Given the description of an element on the screen output the (x, y) to click on. 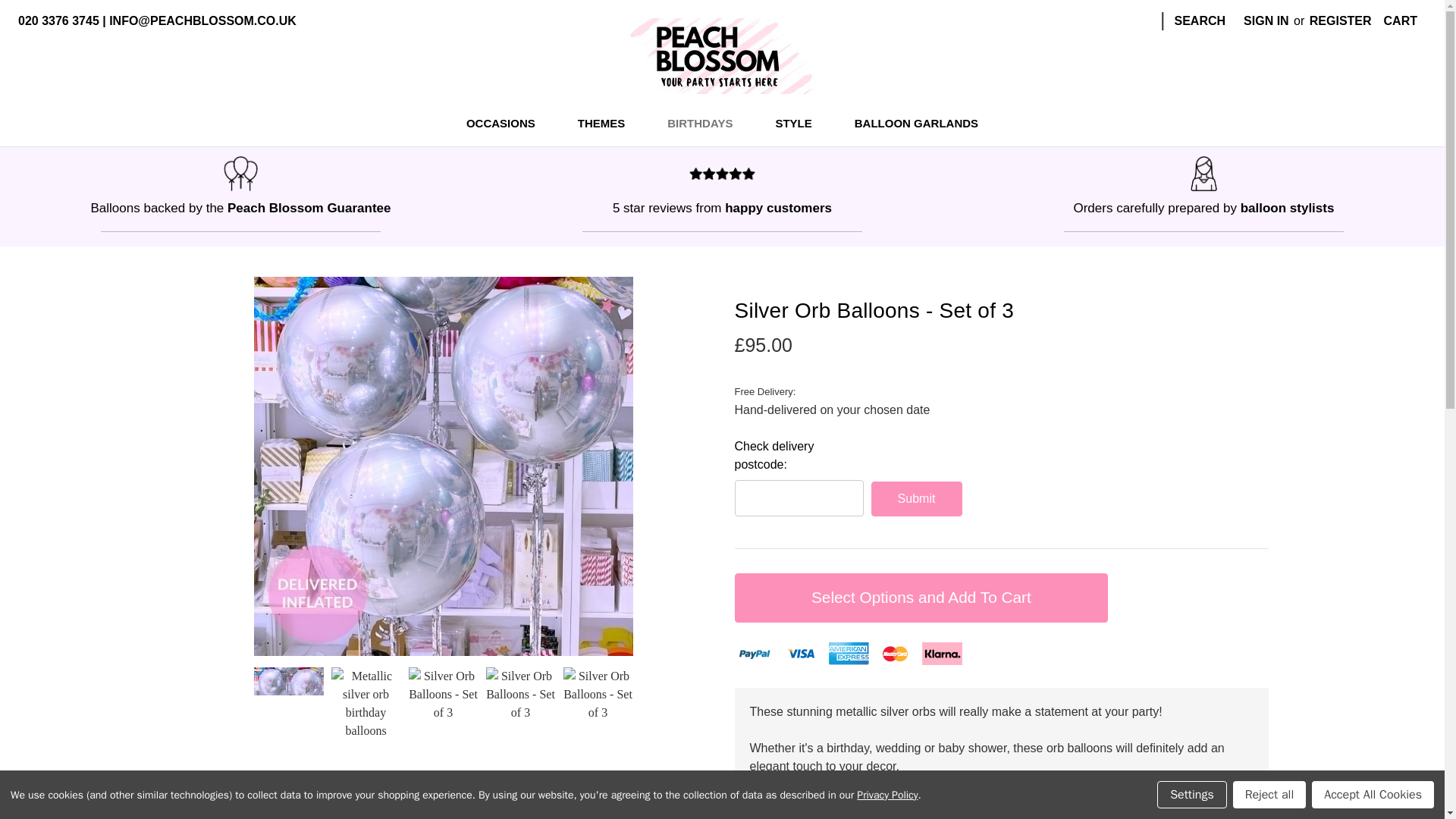
Silver Orb Balloons - Set of 3 (442, 702)
SEARCH (1199, 21)
BIRTHDAYS (707, 126)
020 3376 3745 (58, 21)
CART (1400, 21)
REGISTER (1340, 21)
Silver Orb Balloons - Set of 3 (596, 702)
THEMES (608, 126)
Peach Blossom (721, 56)
